Given the description of an element on the screen output the (x, y) to click on. 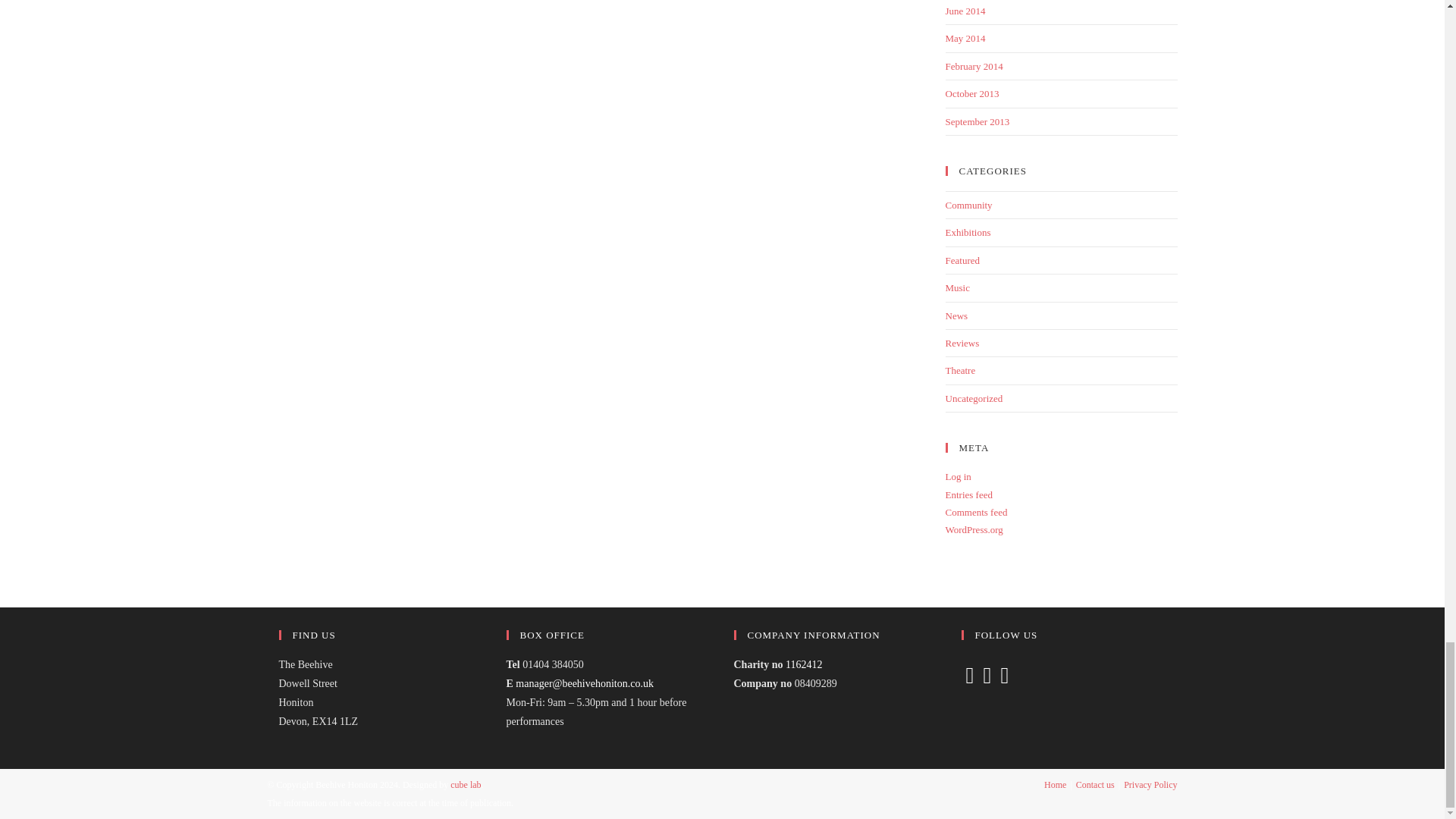
web design Devon (464, 784)
